Given the description of an element on the screen output the (x, y) to click on. 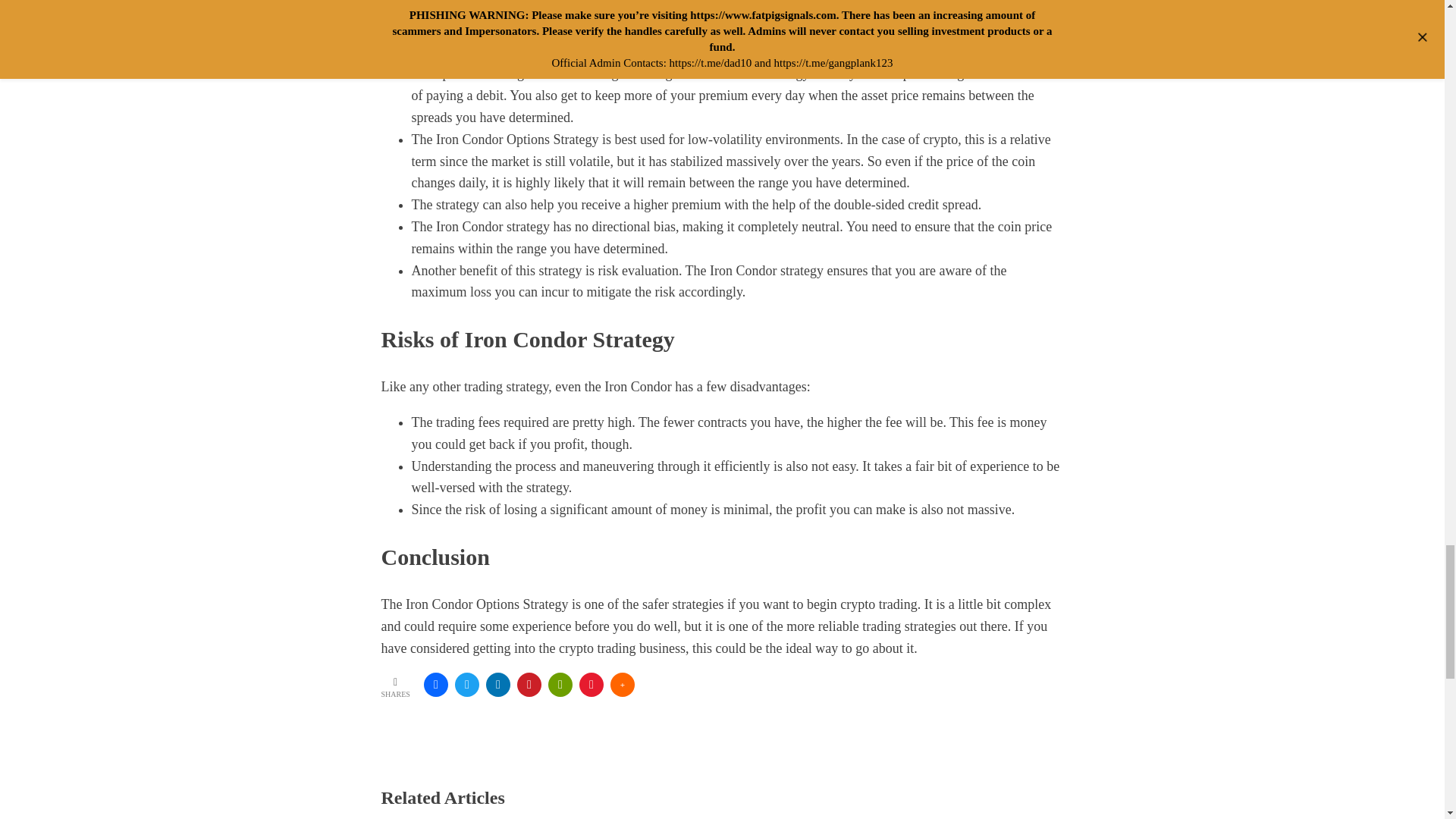
Add this to LinkedIn (498, 684)
Tweet this ! (466, 684)
Convert to PDF (591, 684)
Submit this to Pinterest (528, 684)
Print this article  (560, 684)
Share this on Facebook (435, 684)
More share links (622, 684)
